Given the description of an element on the screen output the (x, y) to click on. 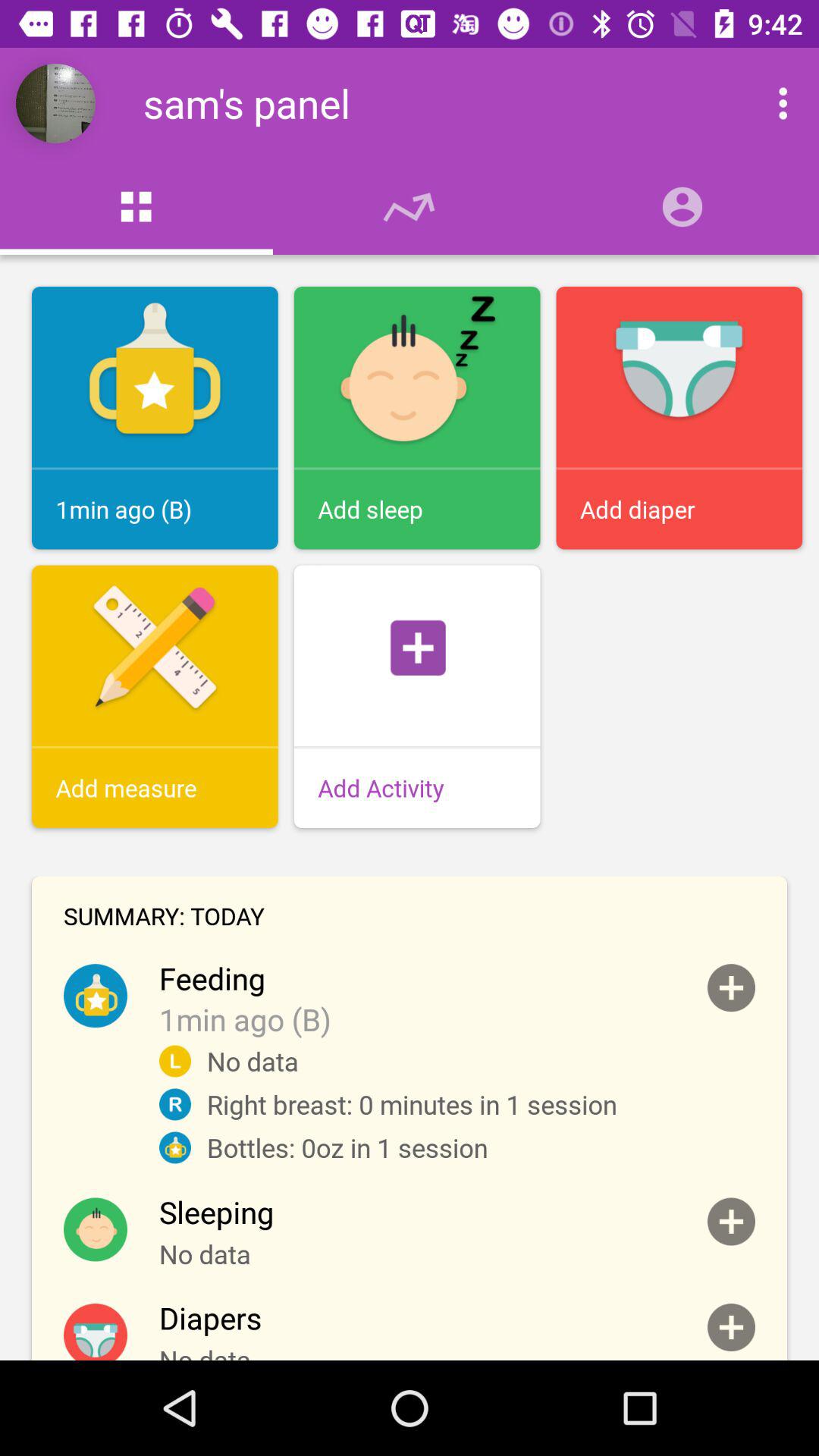
open drop down menu (767, 103)
